Given the description of an element on the screen output the (x, y) to click on. 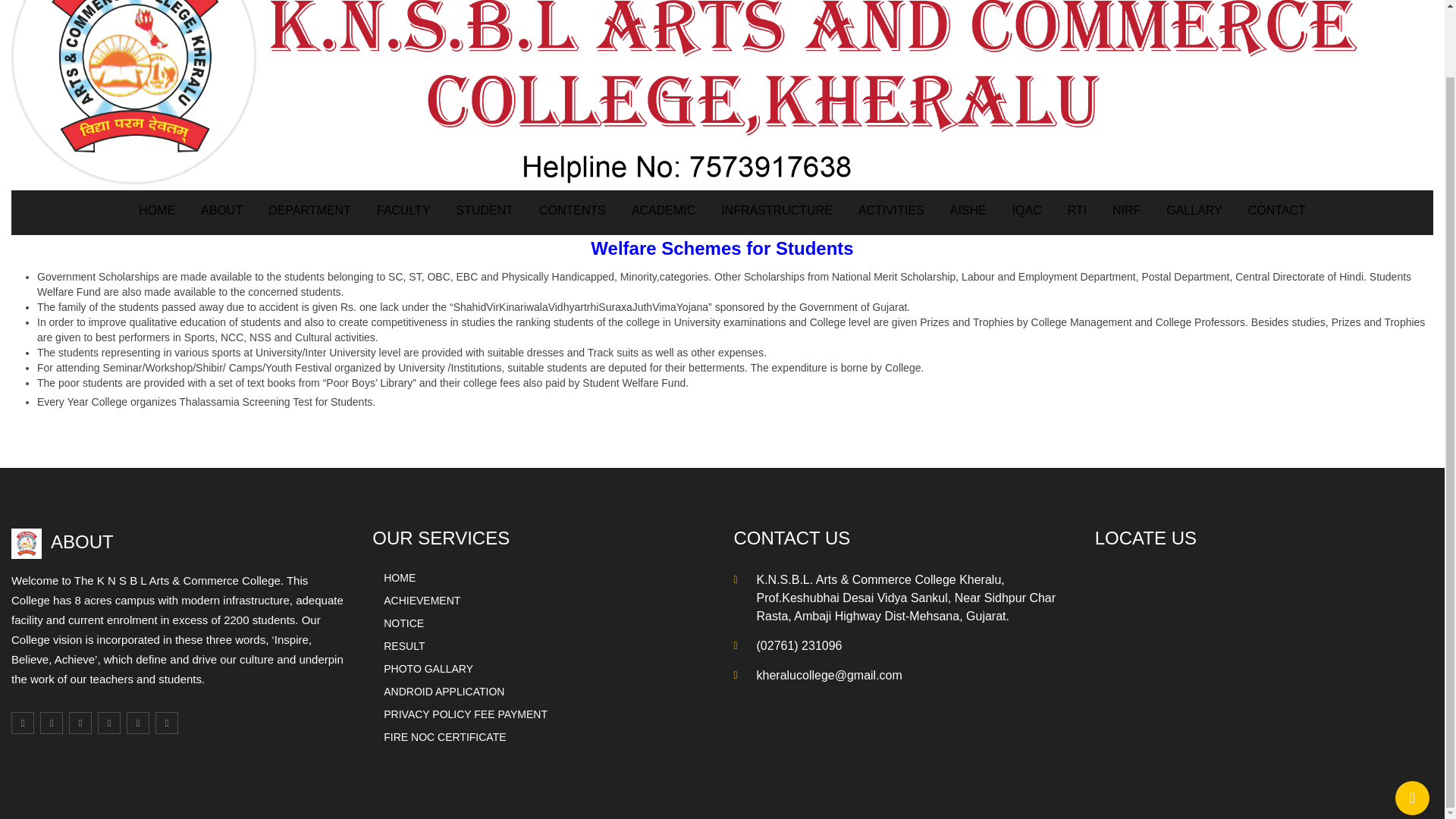
ABOUT (221, 218)
FACULTY (403, 218)
DEPARTMENT (309, 218)
HOME (157, 218)
STUDENT (484, 218)
